Given the description of an element on the screen output the (x, y) to click on. 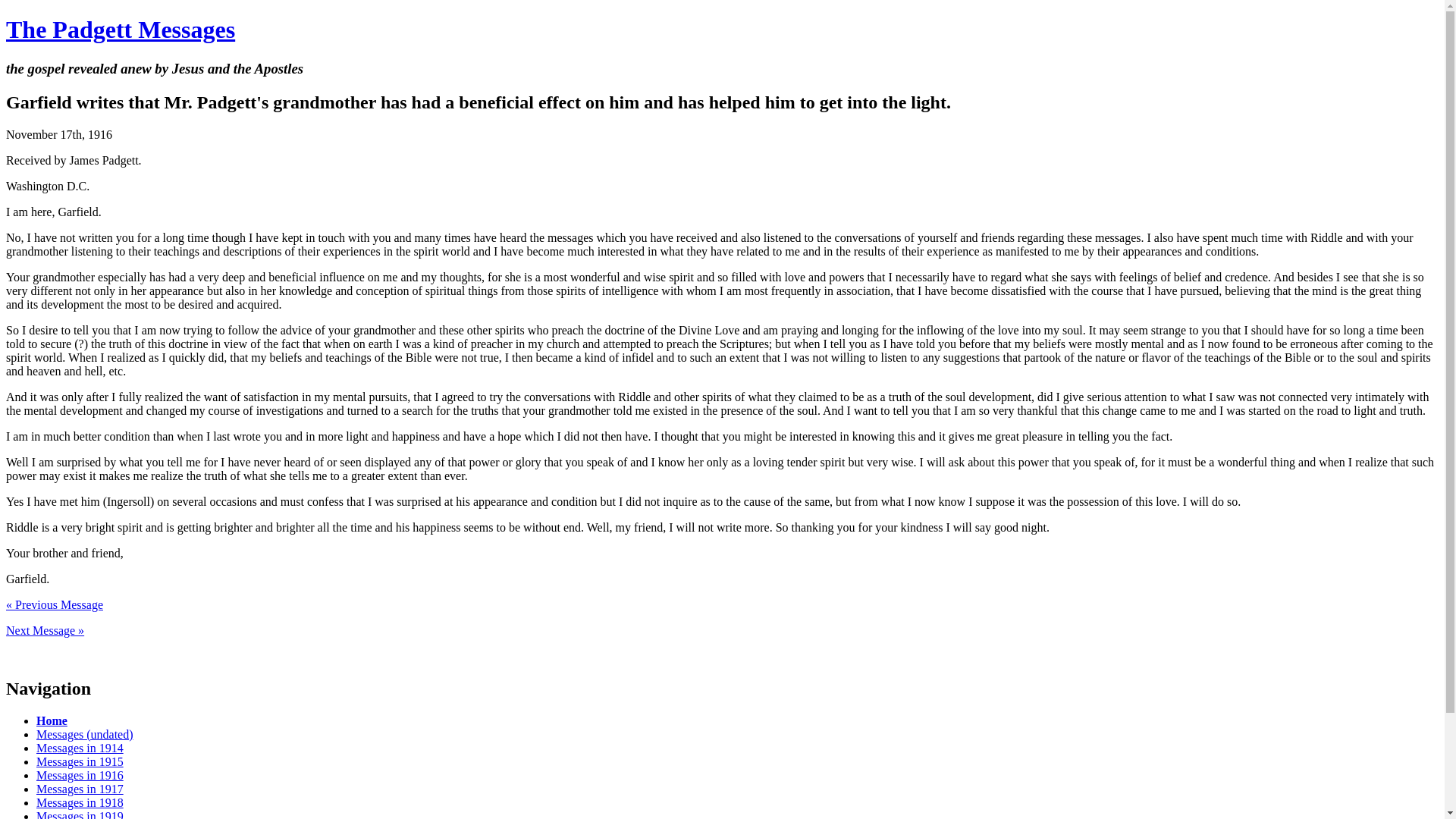
Messages in 1918 (79, 802)
Messages in 1917 (79, 788)
Messages in 1916 (79, 775)
The Padgett Messages (119, 29)
Messages in 1914 (79, 748)
Messages in 1915 (79, 761)
Messages in 1919 (79, 814)
Home (51, 720)
